Given the description of an element on the screen output the (x, y) to click on. 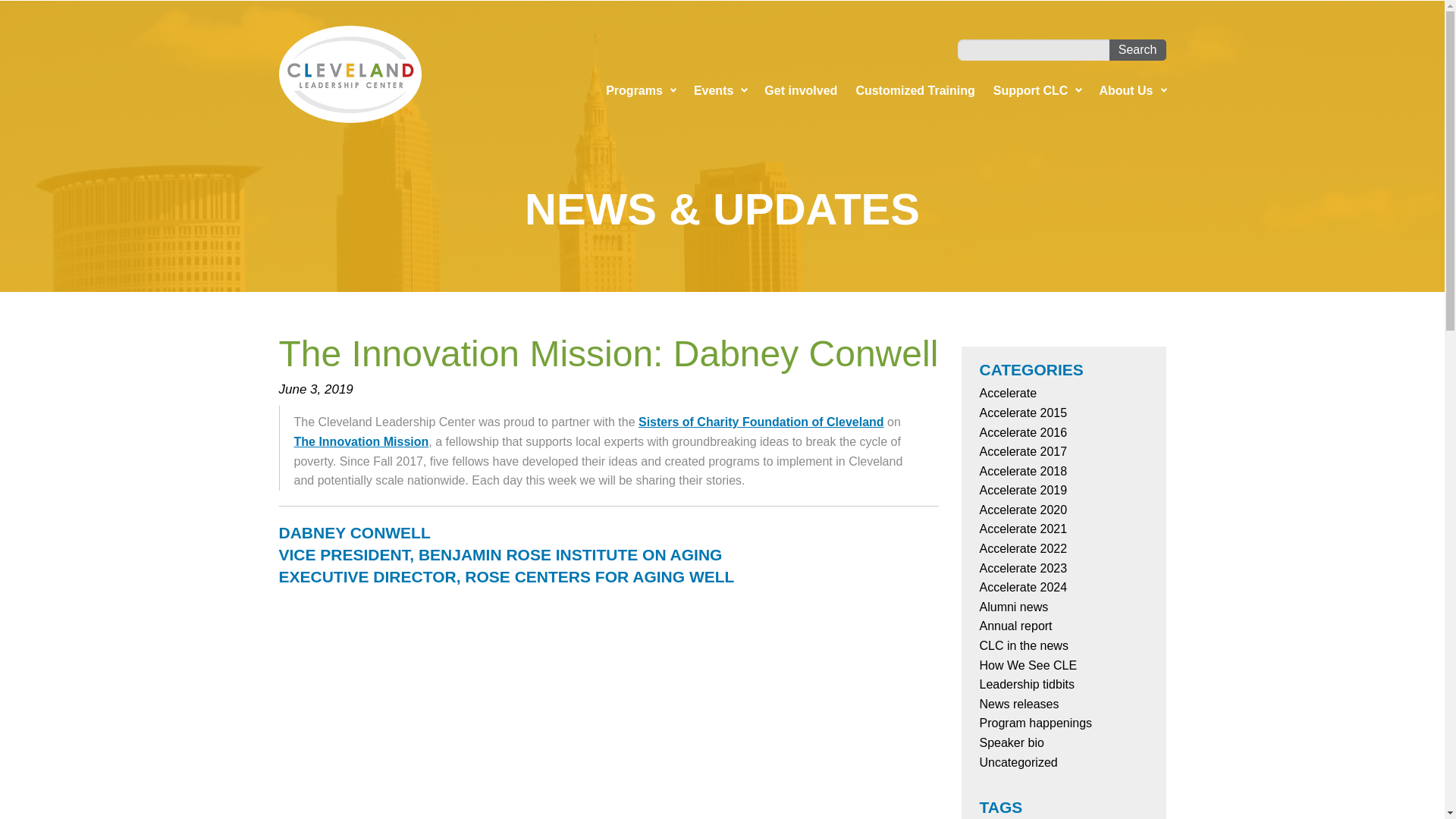
Search for: (1033, 49)
Search (1137, 49)
